Given the description of an element on the screen output the (x, y) to click on. 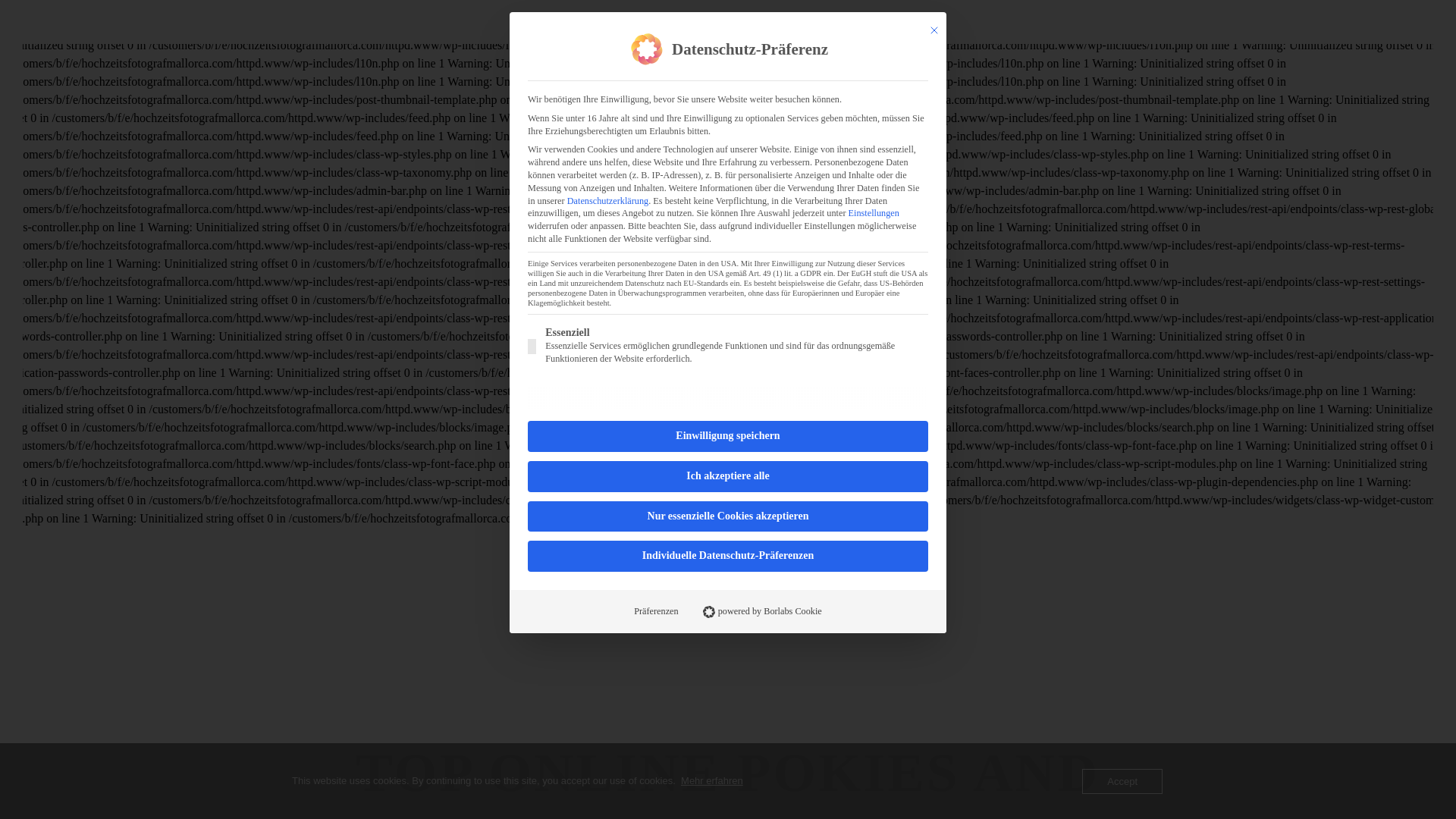
Ich akzeptiere alle (727, 476)
Nur essenzielle Cookies akzeptieren (727, 516)
PORTFOLIO (744, 21)
Einstellungen (873, 213)
Mehr erfahren (711, 780)
Accept (1121, 781)
HOME (632, 21)
powered by Borlabs Cookie (762, 611)
KONTAKT (814, 21)
